Given the description of an element on the screen output the (x, y) to click on. 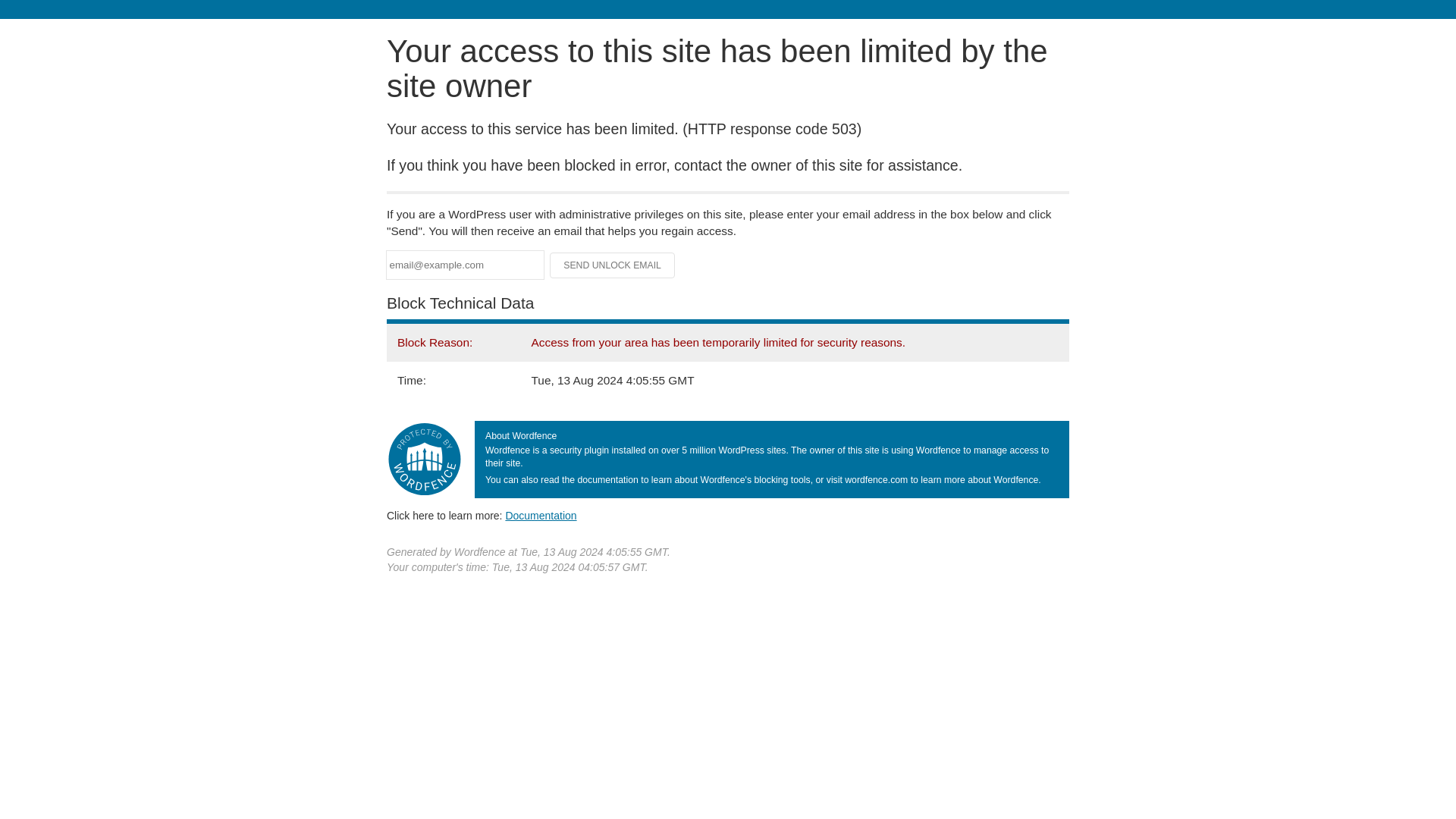
Documentation (540, 515)
Send Unlock Email (612, 265)
Send Unlock Email (612, 265)
